Given the description of an element on the screen output the (x, y) to click on. 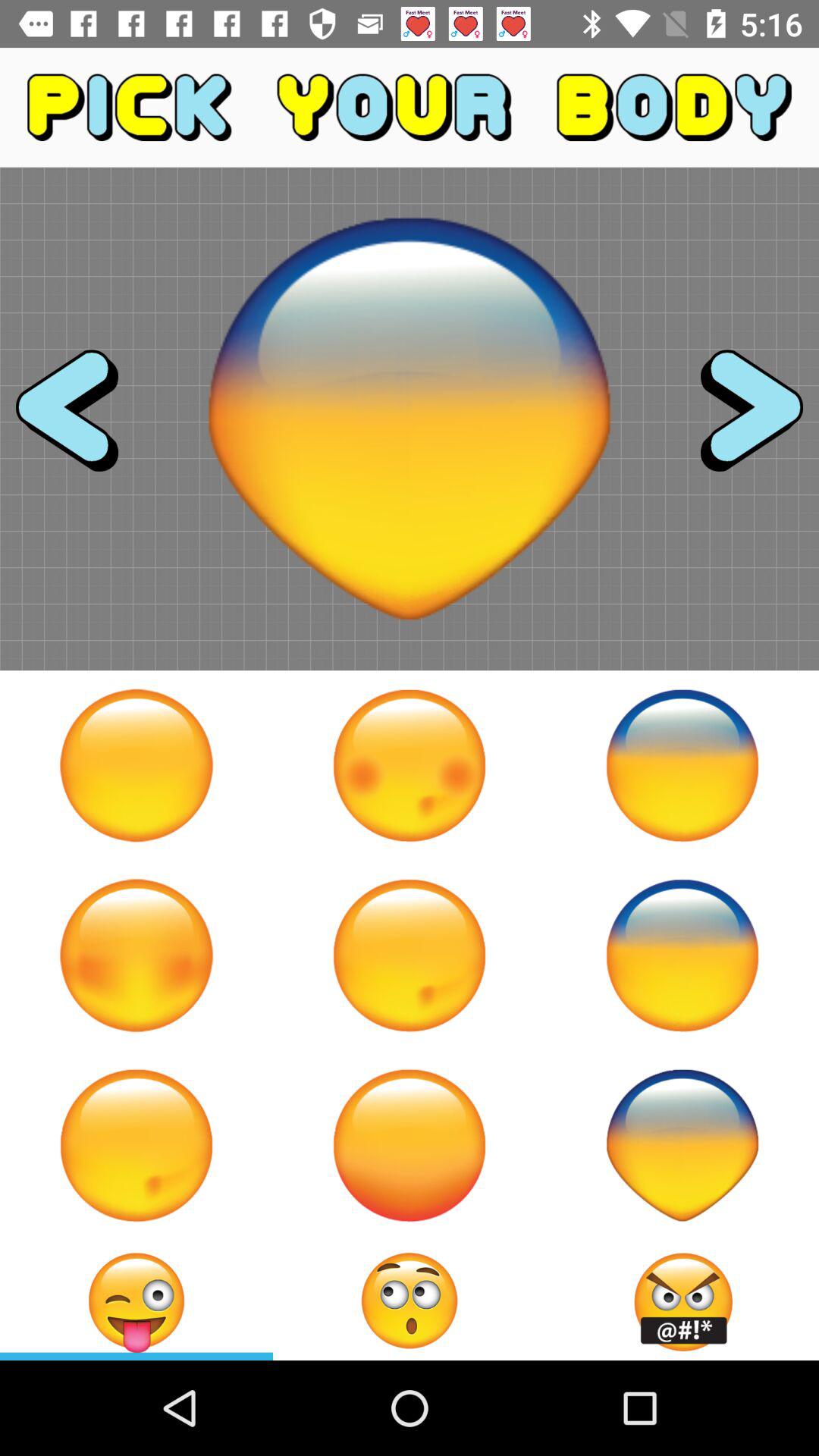
select the emoji (682, 1145)
